Given the description of an element on the screen output the (x, y) to click on. 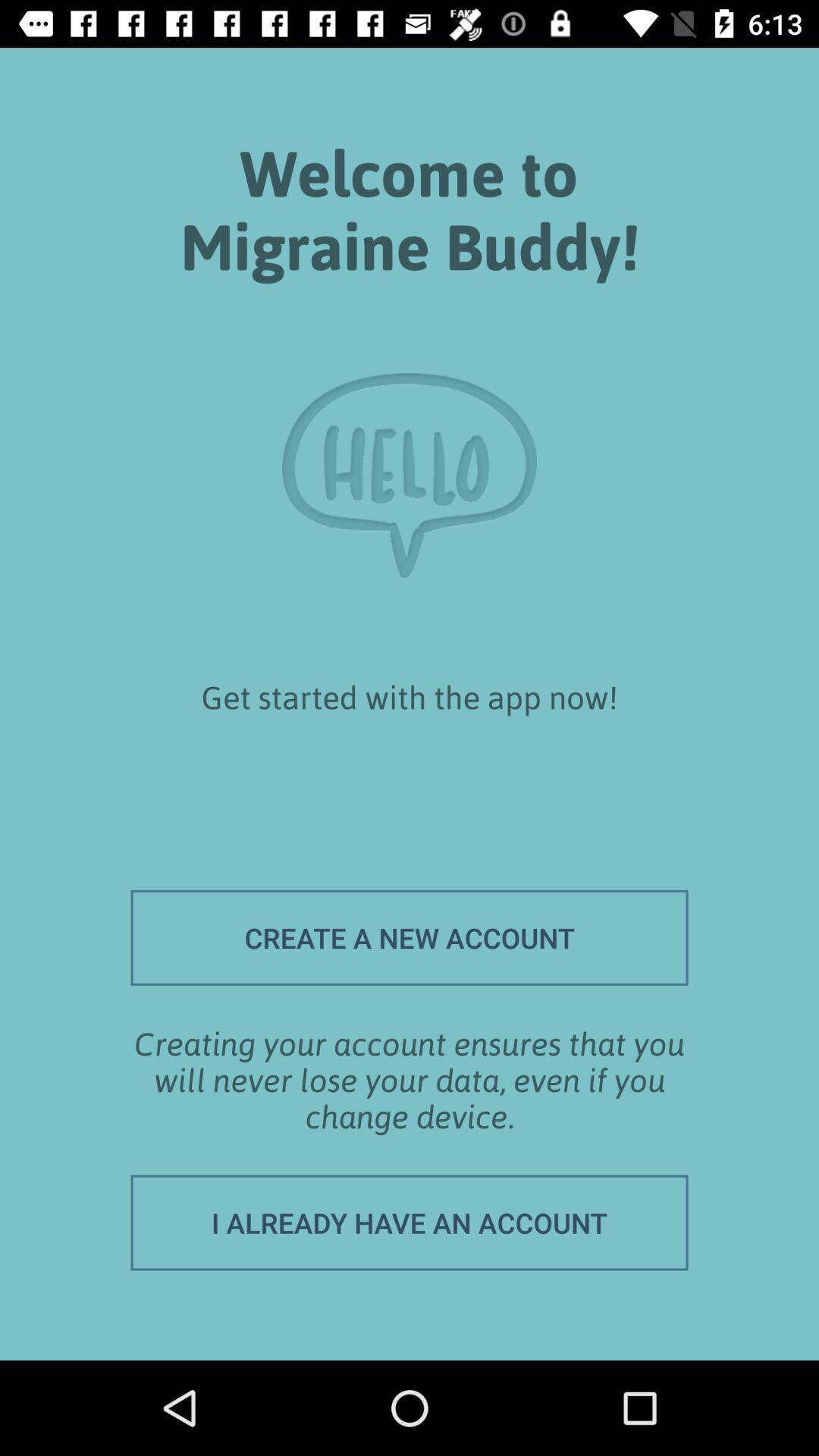
click the i already have (409, 1222)
